Given the description of an element on the screen output the (x, y) to click on. 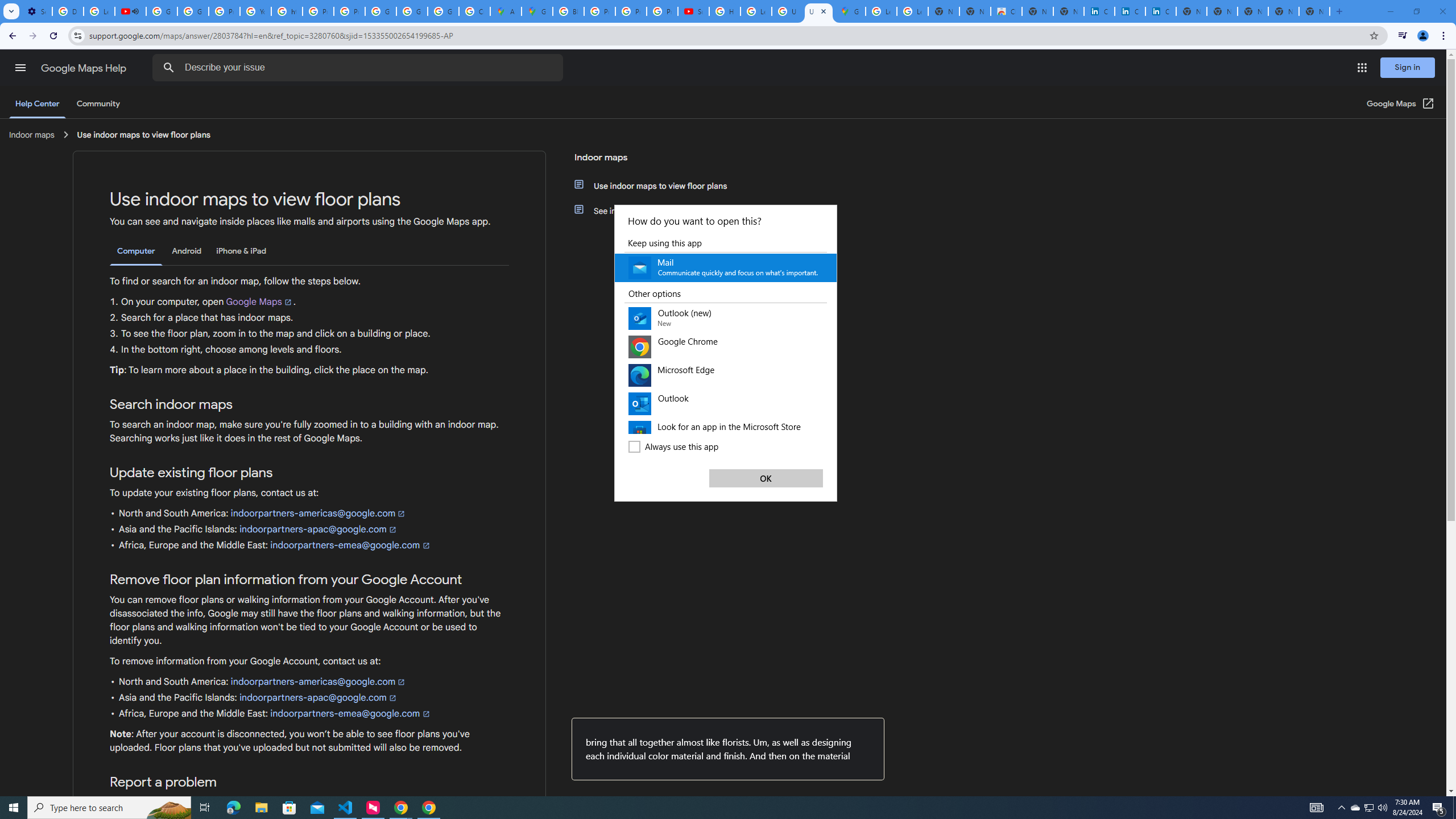
Type here to search (108, 807)
Running applications (717, 807)
How Chrome protects your passwords - Google Chrome Help (724, 11)
Copyright Policy (1160, 11)
User Promoted Notification Area (1368, 807)
Privacy Help Center - Policies Help (318, 11)
OK (765, 478)
Microsoft Store (289, 807)
Google Maps (Open in a new window) (1400, 103)
Chrome Web Store (1005, 11)
Cookie Policy | LinkedIn (1129, 11)
